Given the description of an element on the screen output the (x, y) to click on. 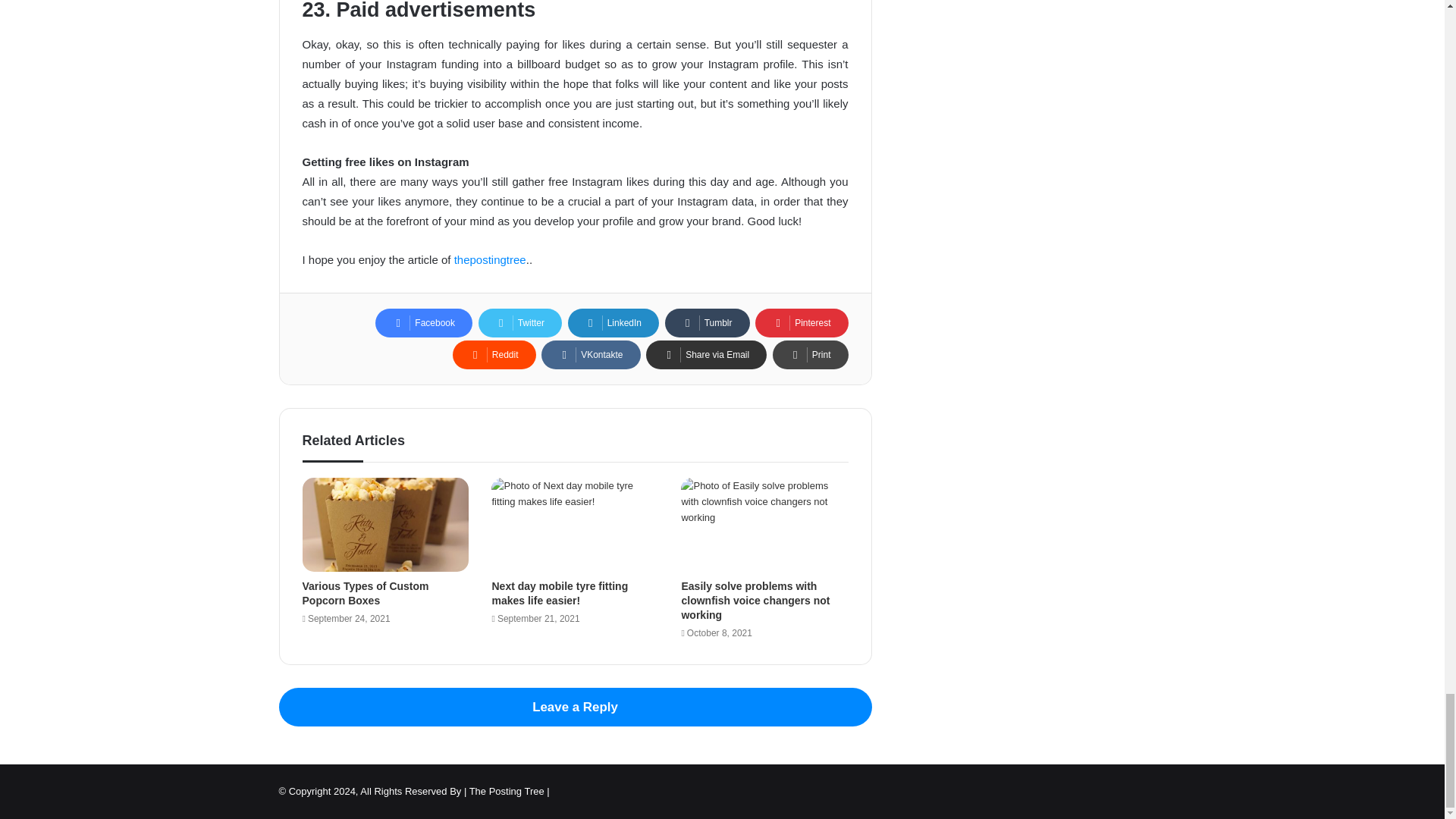
thepostingtree (489, 259)
LinkedIn (613, 322)
Tumblr (707, 322)
Pinterest (801, 322)
Tumblr (707, 322)
Facebook (423, 322)
VKontakte (590, 354)
Twitter (520, 322)
Twitter (520, 322)
Share via Email (706, 354)
